Given the description of an element on the screen output the (x, y) to click on. 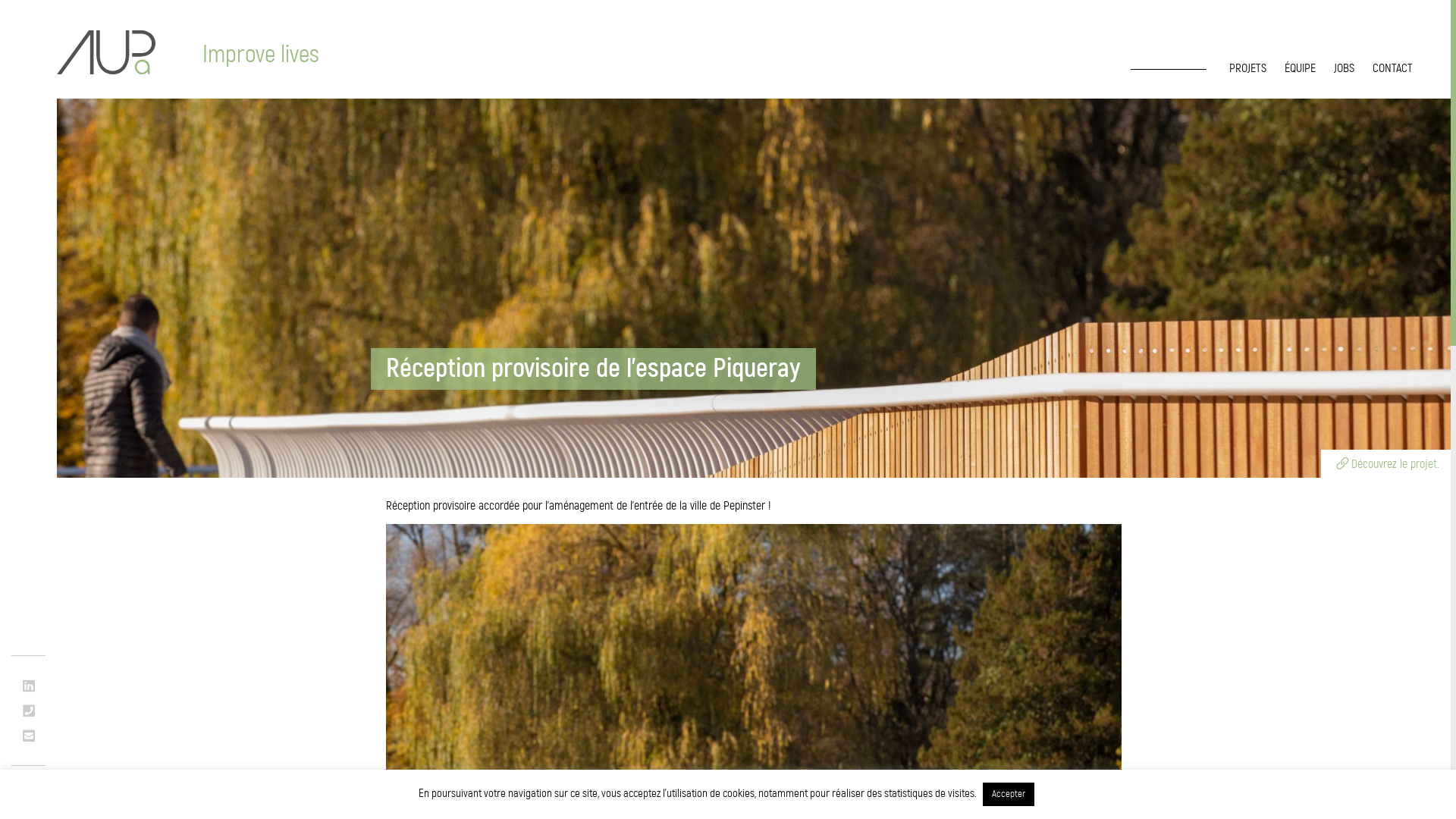
JOBS Element type: text (1343, 68)
CONTACT Element type: text (1392, 68)
Improve lives Element type: text (105, 53)
PROJETS Element type: text (1247, 68)
Accepter Element type: text (1008, 794)
